Given the description of an element on the screen output the (x, y) to click on. 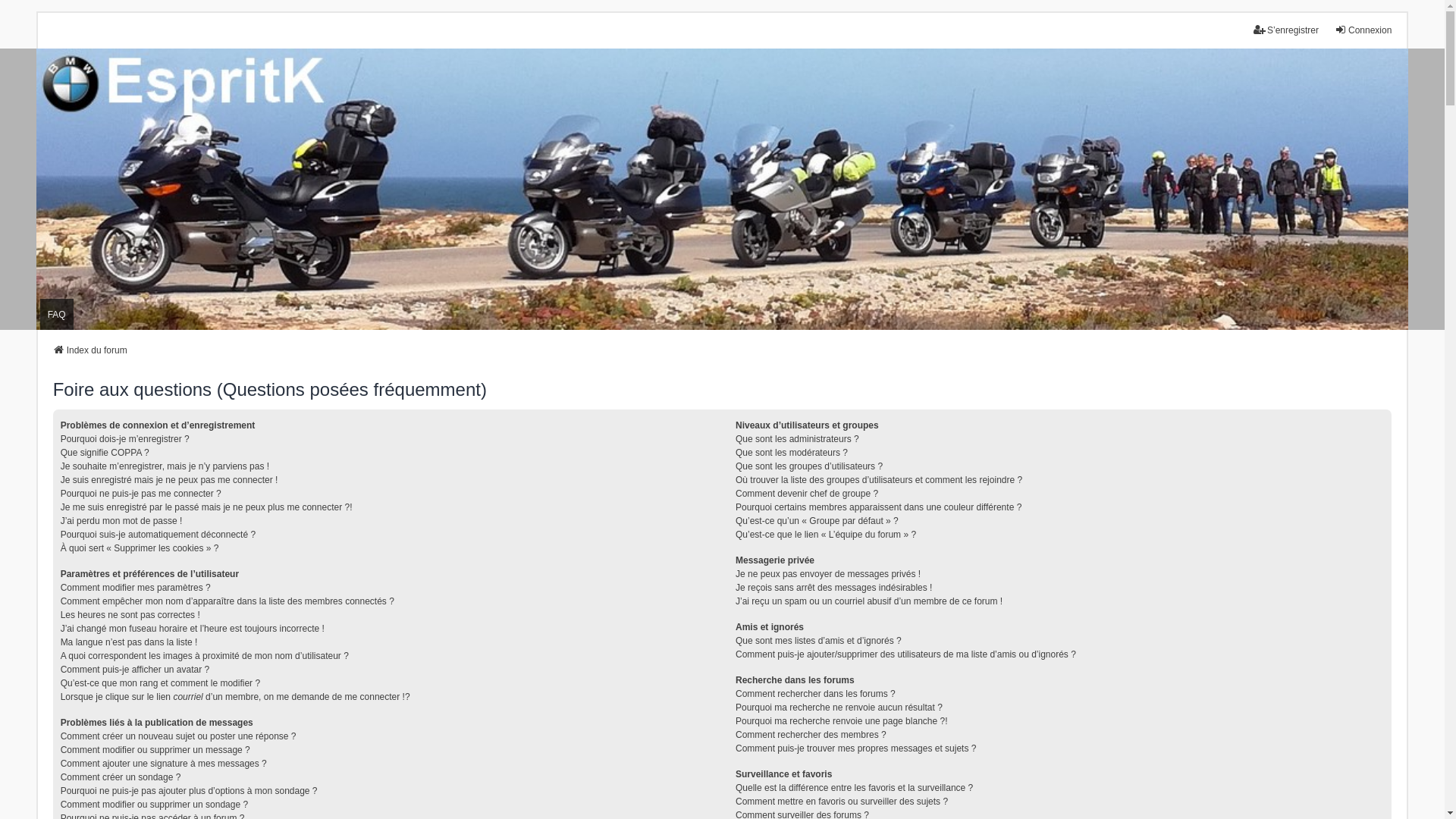
Index du forum Element type: hover (722, 188)
Pourquoi ne puis-je pas me connecter ? Element type: text (140, 493)
Les heures ne sont pas correctes ! Element type: text (130, 614)
Comment mettre en favoris ou surveiller des sujets ? Element type: text (841, 801)
Comment puis-je trouver mes propres messages et sujets ? Element type: text (855, 748)
Que sont les administrateurs ? Element type: text (797, 438)
Connexion Element type: text (1362, 30)
Comment modifier ou supprimer un sondage ? Element type: text (153, 804)
Index du forum Element type: text (90, 350)
Comment modifier ou supprimer un message ? Element type: text (155, 749)
FAQ Element type: text (56, 313)
Comment devenir chef de groupe ? Element type: text (806, 493)
Comment rechercher des membres ? Element type: text (810, 734)
Comment rechercher dans les forums ? Element type: text (815, 693)
Comment puis-je afficher un avatar ? Element type: text (135, 669)
Que signifie COPPA ? Element type: text (104, 452)
Pourquoi ma recherche renvoie une page blanche ?! Element type: text (841, 721)
